Given the description of an element on the screen output the (x, y) to click on. 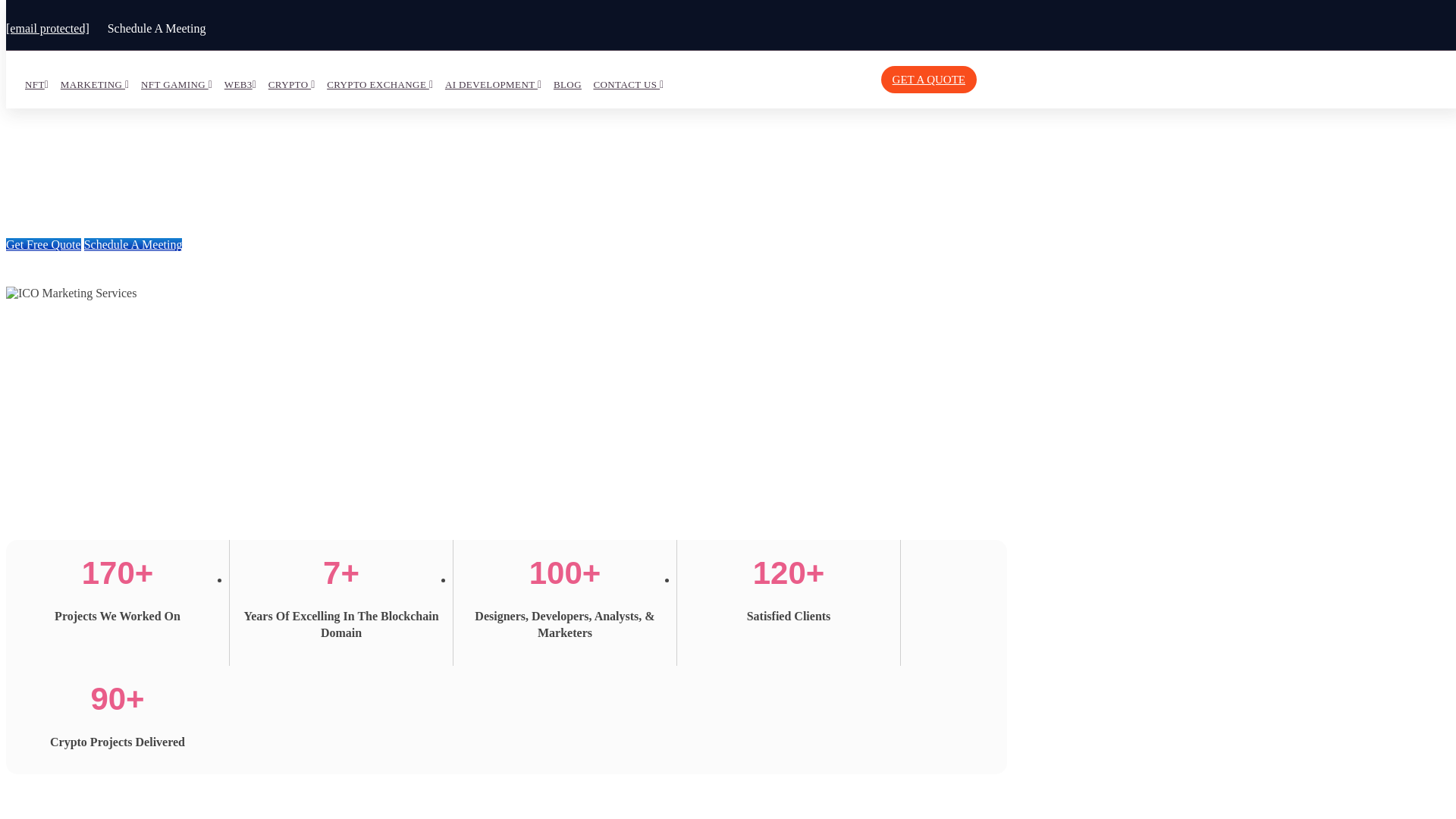
Schedule A Meeting (133, 244)
NFT (36, 84)
Schedule A Meeting (156, 28)
Get Free Quote (43, 244)
